Given the description of an element on the screen output the (x, y) to click on. 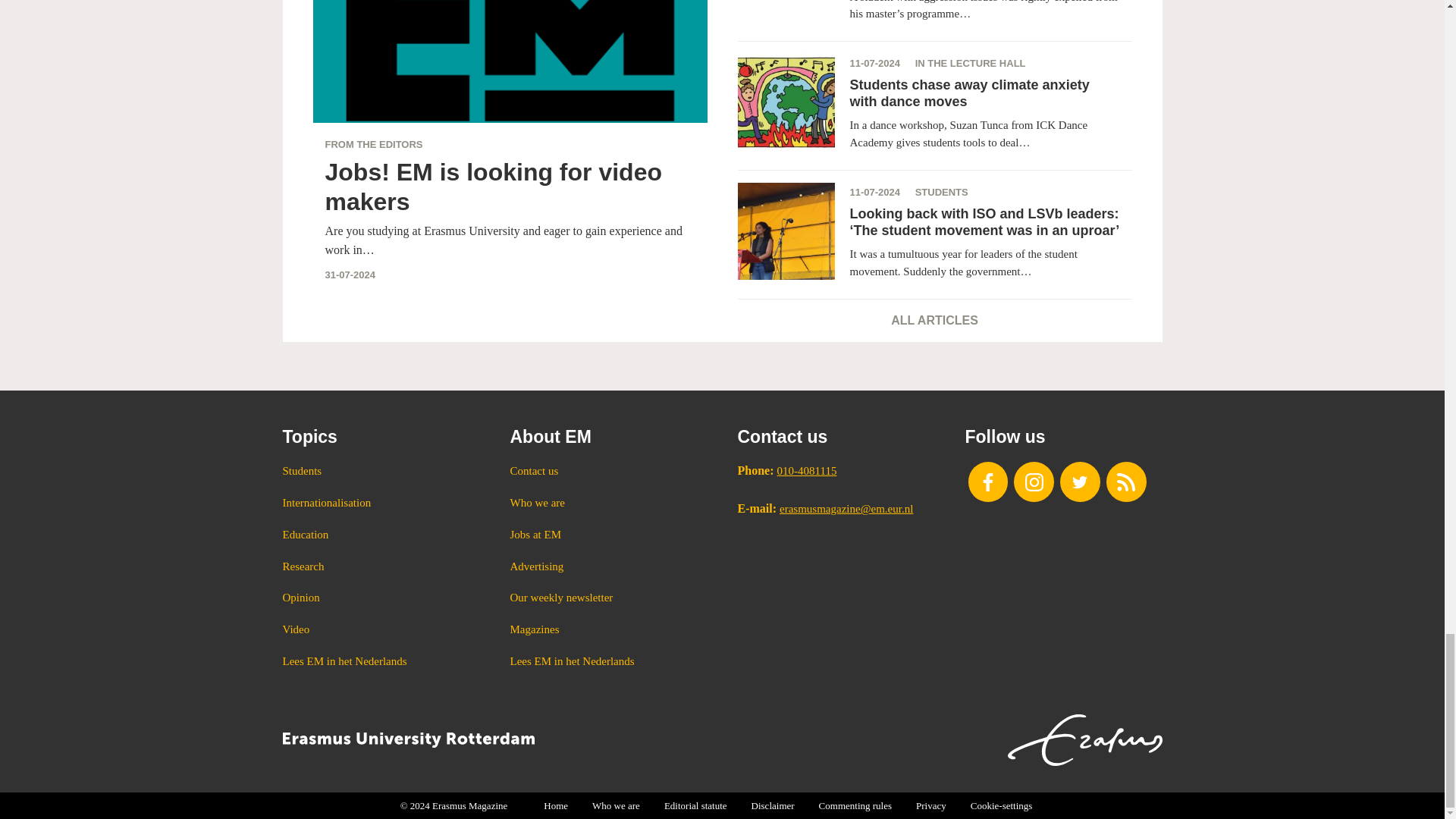
Education (380, 534)
ALL ARTICLES (934, 319)
Opinion (380, 597)
Who we are (607, 503)
Visit us on Instagram (1033, 481)
Internationalisation (380, 503)
Lees EM in het Nederlands (380, 661)
Follow us on Twitter (1079, 481)
Advertising (607, 566)
Video (380, 629)
Jobs at EM (607, 534)
Contact us (607, 471)
Research (380, 566)
Visit us on Facebook (987, 481)
Students (380, 471)
